Given the description of an element on the screen output the (x, y) to click on. 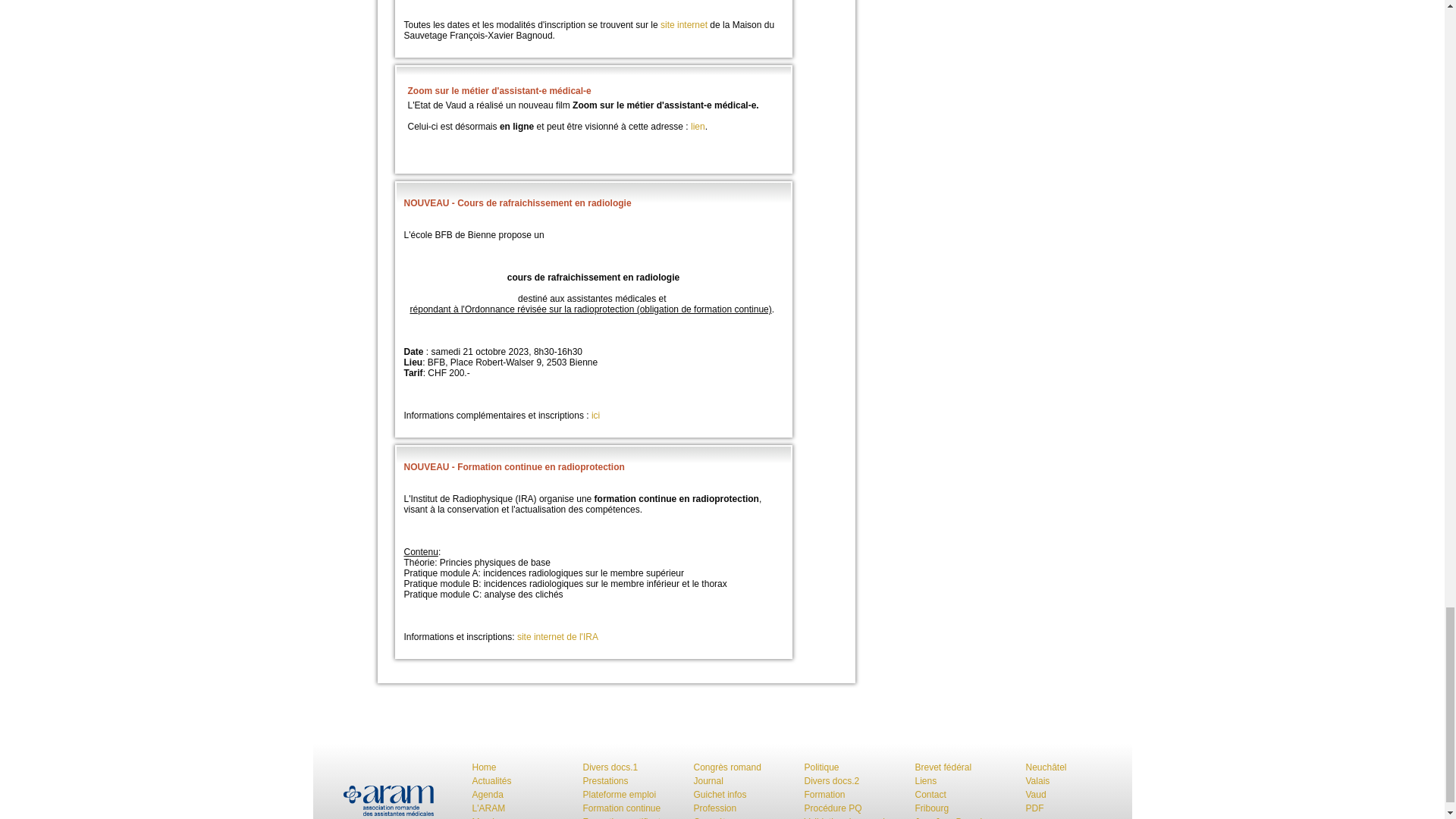
ICI Element type: text (934, 381)
Suivez-nous sur notre page Facebook Element type: hover (502, 37)
ici Element type: text (648, 780)
Connexion Element type: text (1099, 285)
